Given the description of an element on the screen output the (x, y) to click on. 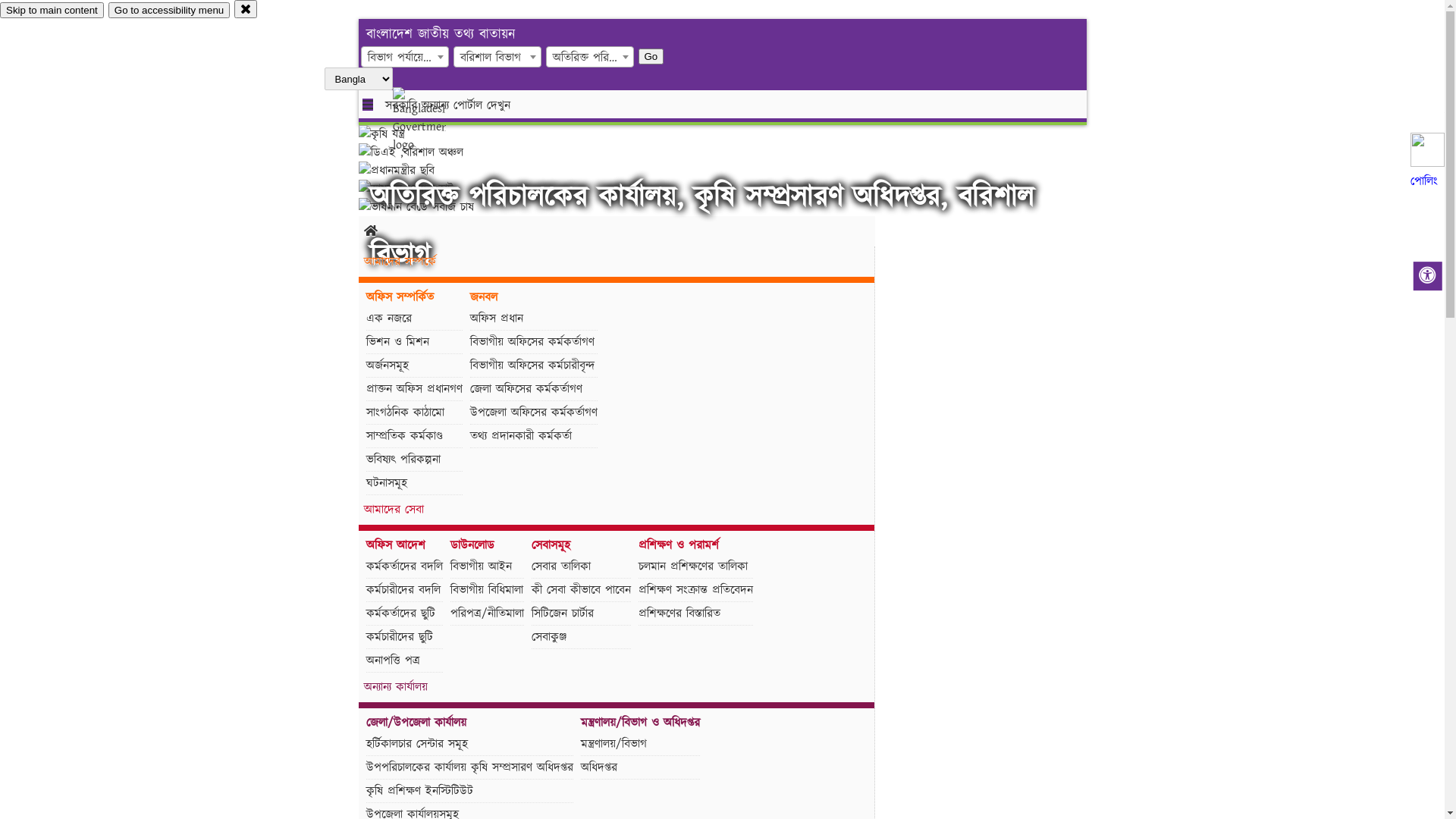
Skip to main content Element type: text (51, 10)

                
             Element type: hover (431, 120)
Go to accessibility menu Element type: text (168, 10)
close Element type: hover (245, 9)
Go Element type: text (651, 56)
